Given the description of an element on the screen output the (x, y) to click on. 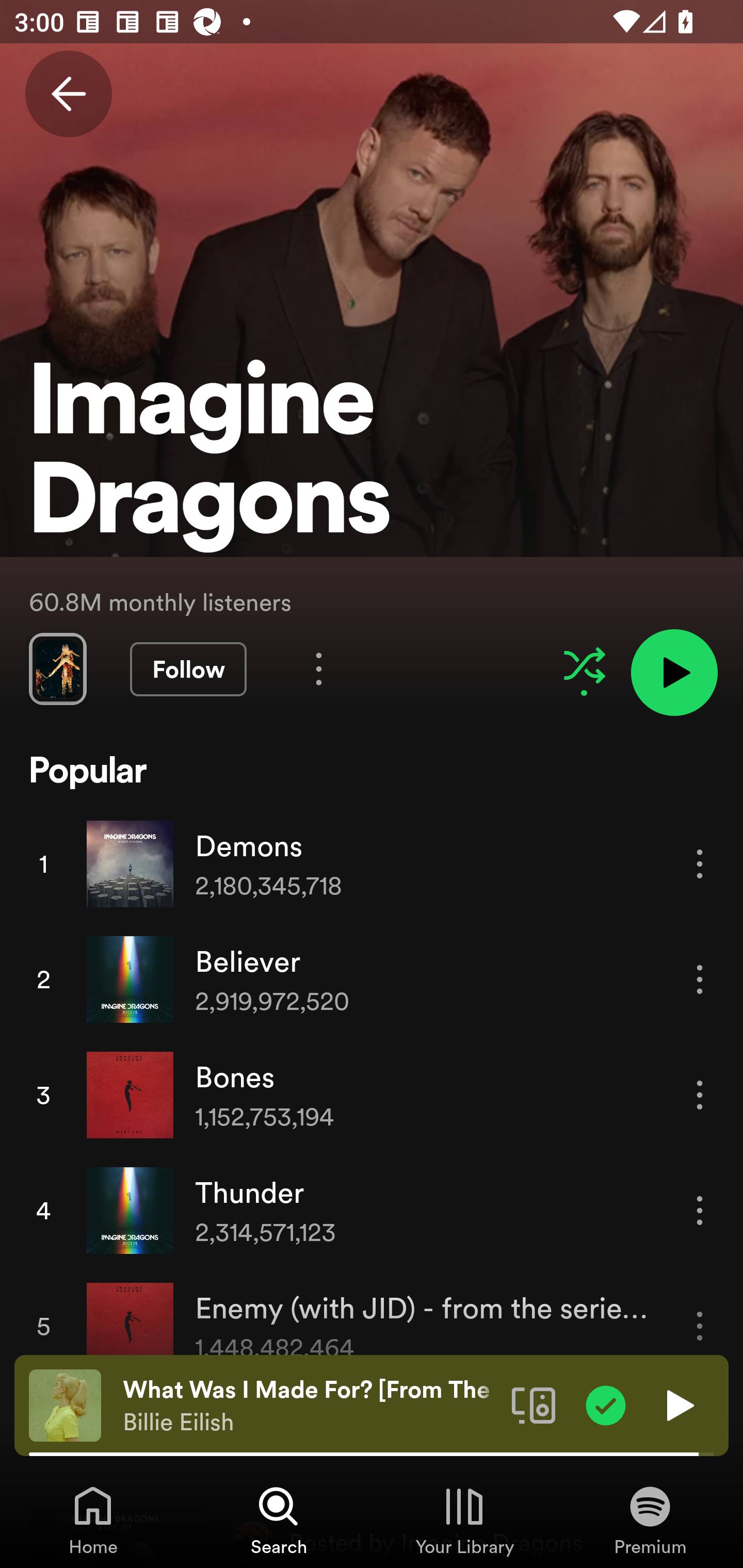
Back (68, 93)
Disable shuffle for this artist (583, 665)
Swipe through previews of tracks from this artist. (57, 668)
More options for artist Imagine Dragons (318, 668)
Play artist (674, 672)
Follow (188, 669)
More options for song Demons (699, 863)
More options for song Believer (699, 979)
3 Bones 1,152,753,194 More options for song Bones (371, 1095)
More options for song Bones (699, 1095)
More options for song Thunder (699, 1210)
The cover art of the currently playing track (64, 1404)
Connect to a device. Opens the devices menu (533, 1404)
